Given the description of an element on the screen output the (x, y) to click on. 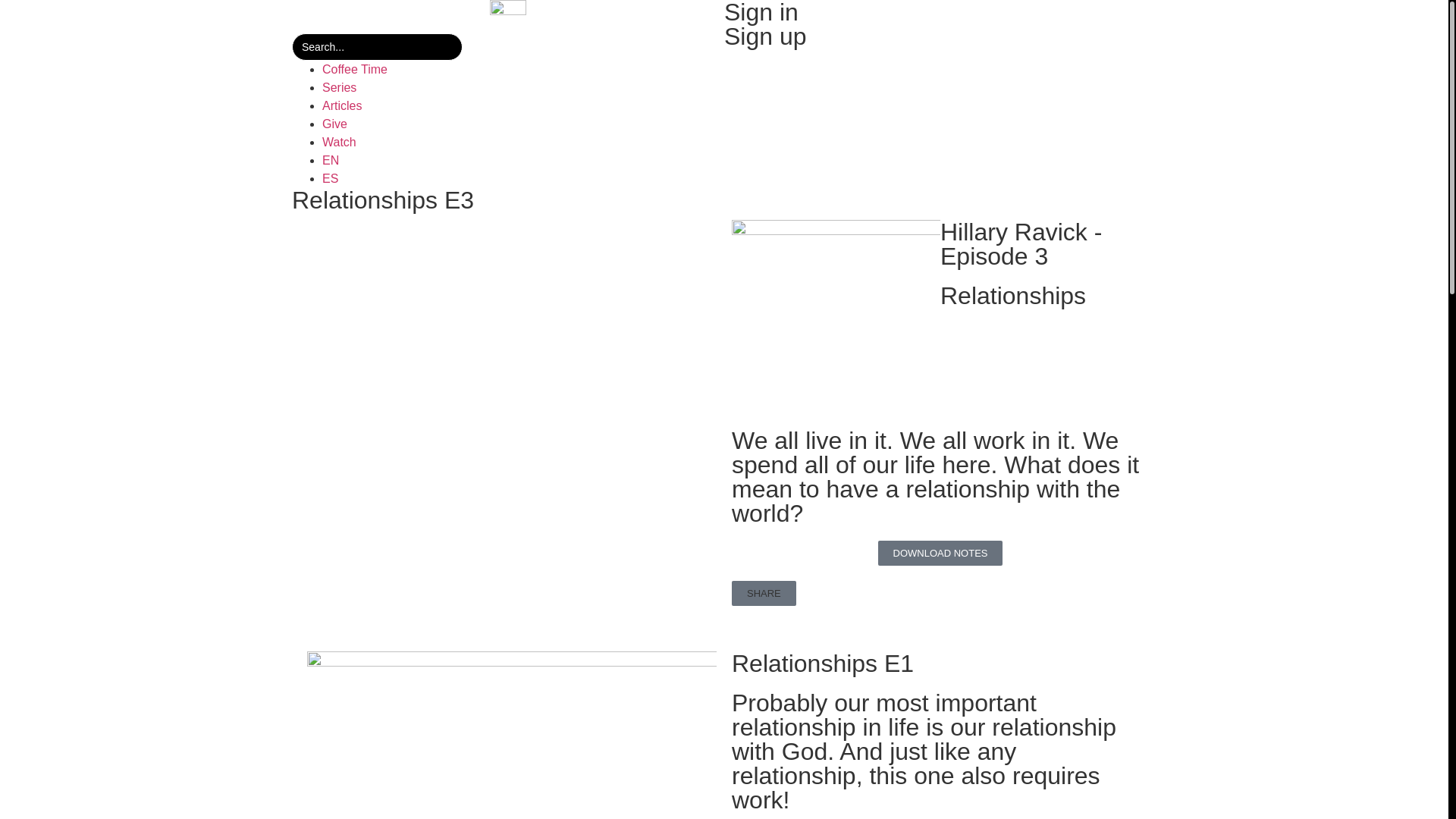
Series Element type: text (523, 87)
Watch Element type: text (523, 142)
Articles Element type: text (523, 106)
DOWNLOAD NOTES Element type: text (940, 552)
ES Element type: text (523, 178)
SHARE Element type: text (763, 592)
EN Element type: text (523, 160)
Give Element type: text (523, 124)
Coffee Time Element type: text (523, 69)
Sign up Element type: text (765, 36)
YouTube video player Element type: hover (507, 336)
